Given the description of an element on the screen output the (x, y) to click on. 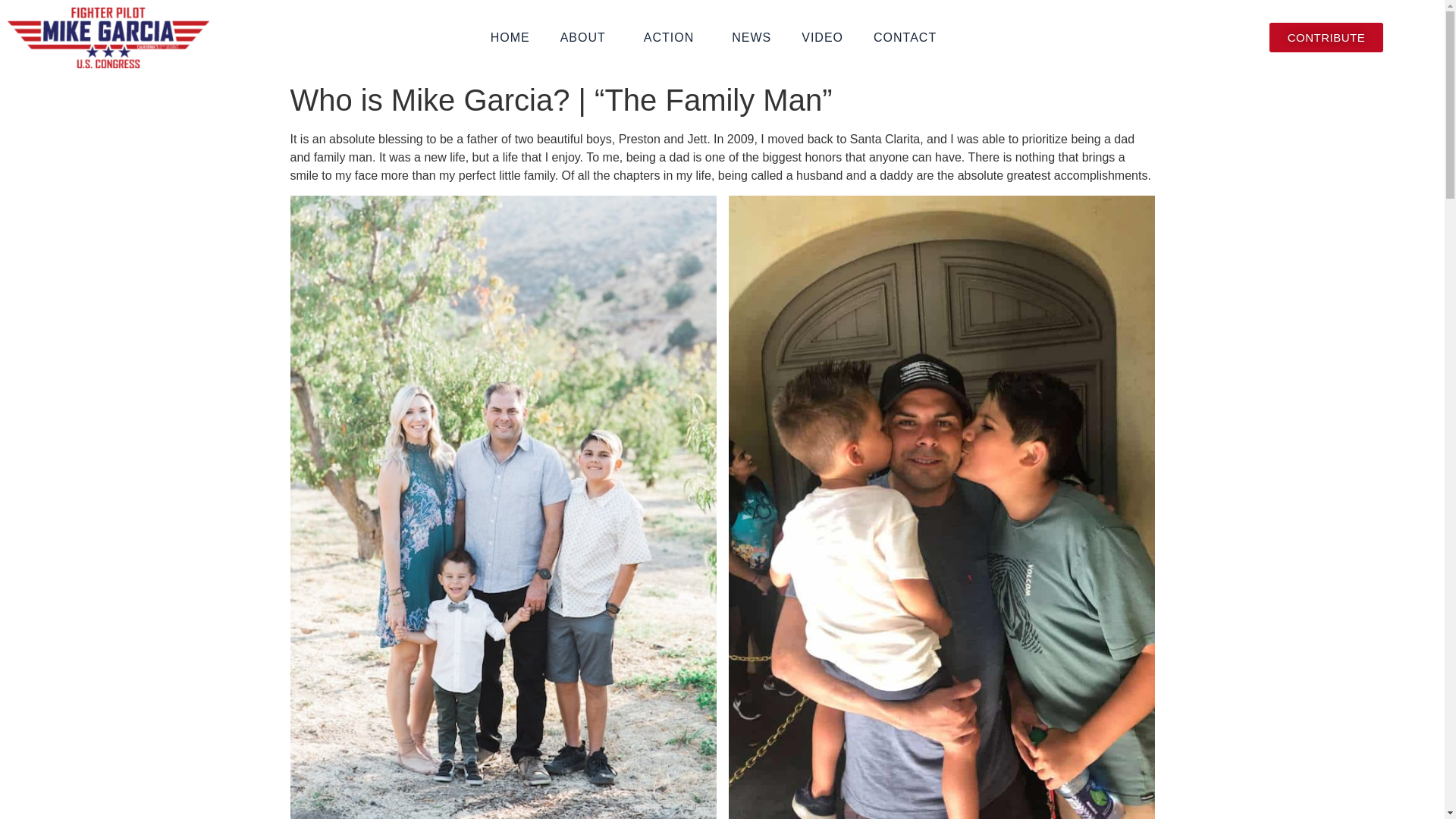
CONTRIBUTE (1326, 37)
VIDEO (822, 37)
HOME (510, 37)
ABOUT (586, 37)
CONTACT (909, 37)
ACTION (672, 37)
NEWS (751, 37)
